Given the description of an element on the screen output the (x, y) to click on. 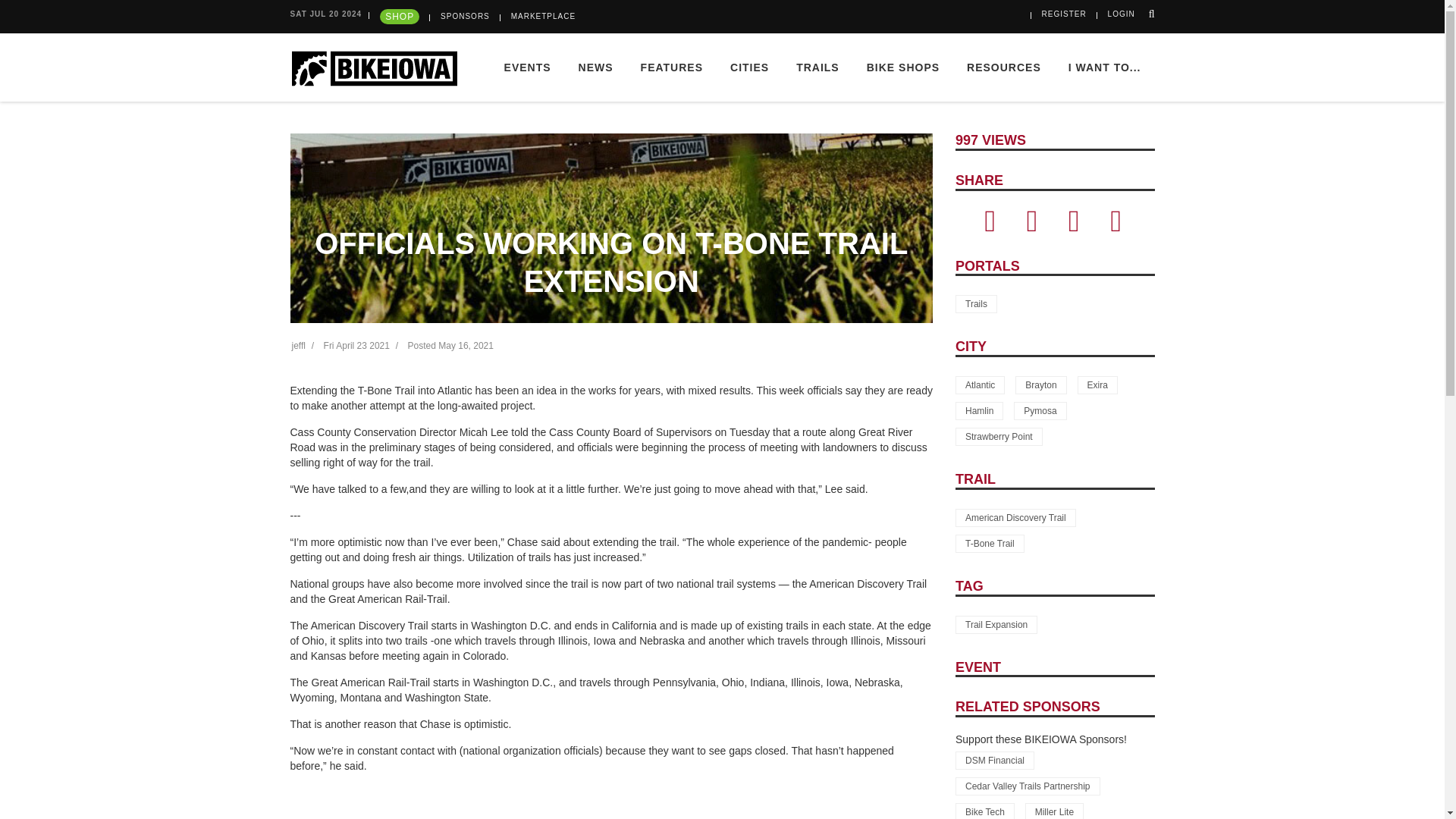
RESOURCES (1003, 67)
NEWS (595, 67)
MARKETPLACE (543, 16)
News Date: Fri April 23 2021  (356, 345)
FEATURES (671, 67)
View details about Miller Lite (1054, 811)
LOGIN (1121, 13)
Click to Share via Email (1073, 227)
View details about DSM Financial (994, 760)
CITIES (749, 67)
REGISTER (1064, 13)
SHOP (399, 16)
BIKE SHOPS (903, 67)
Posted May 16, 2021  (450, 345)
